Given the description of an element on the screen output the (x, y) to click on. 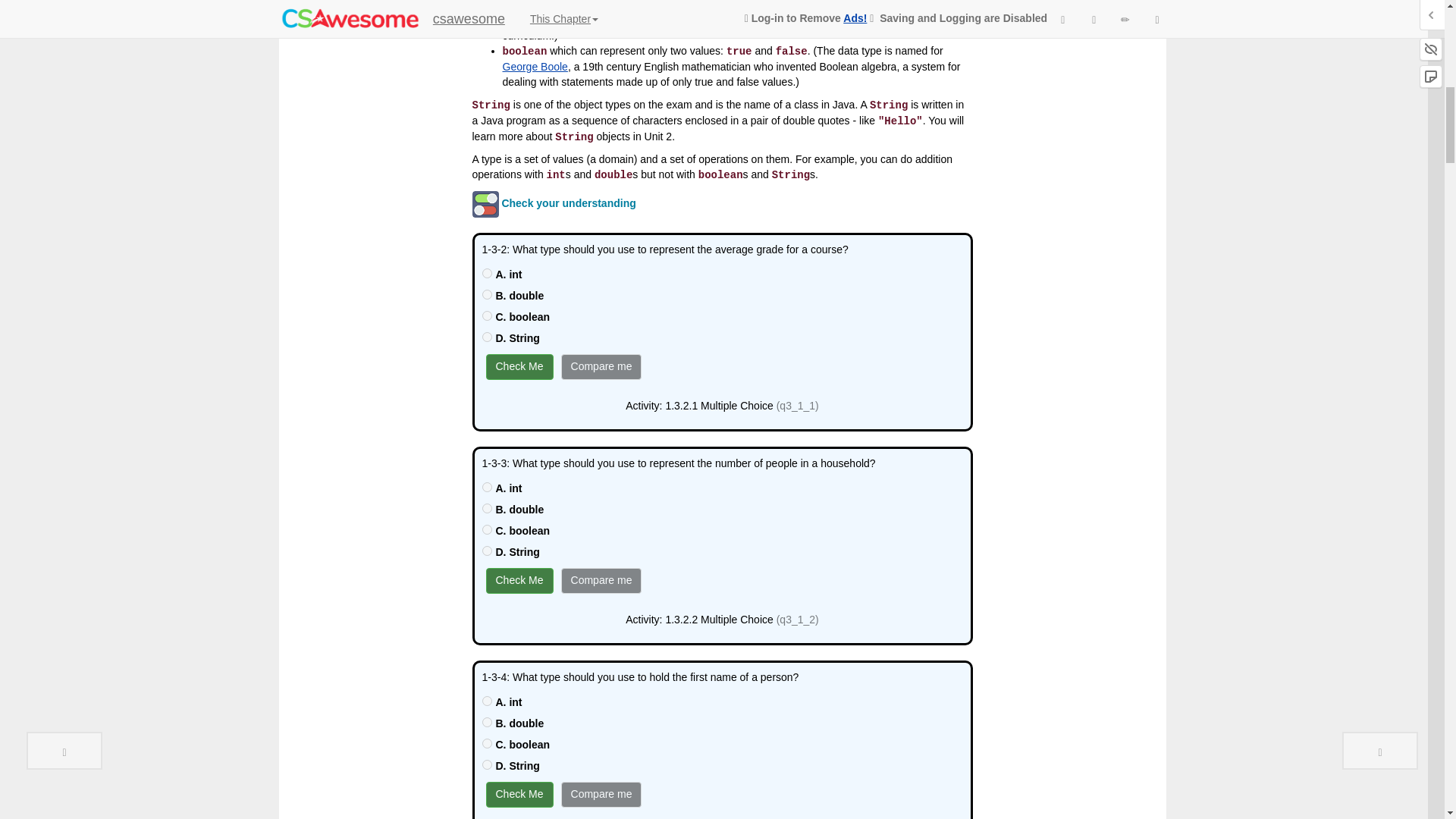
3 (486, 764)
2 (486, 743)
0 (486, 700)
1 (486, 722)
3 (486, 551)
2 (486, 529)
3 (486, 337)
2 (486, 316)
1 (486, 294)
0 (486, 273)
0 (486, 487)
1 (486, 508)
